Given the description of an element on the screen output the (x, y) to click on. 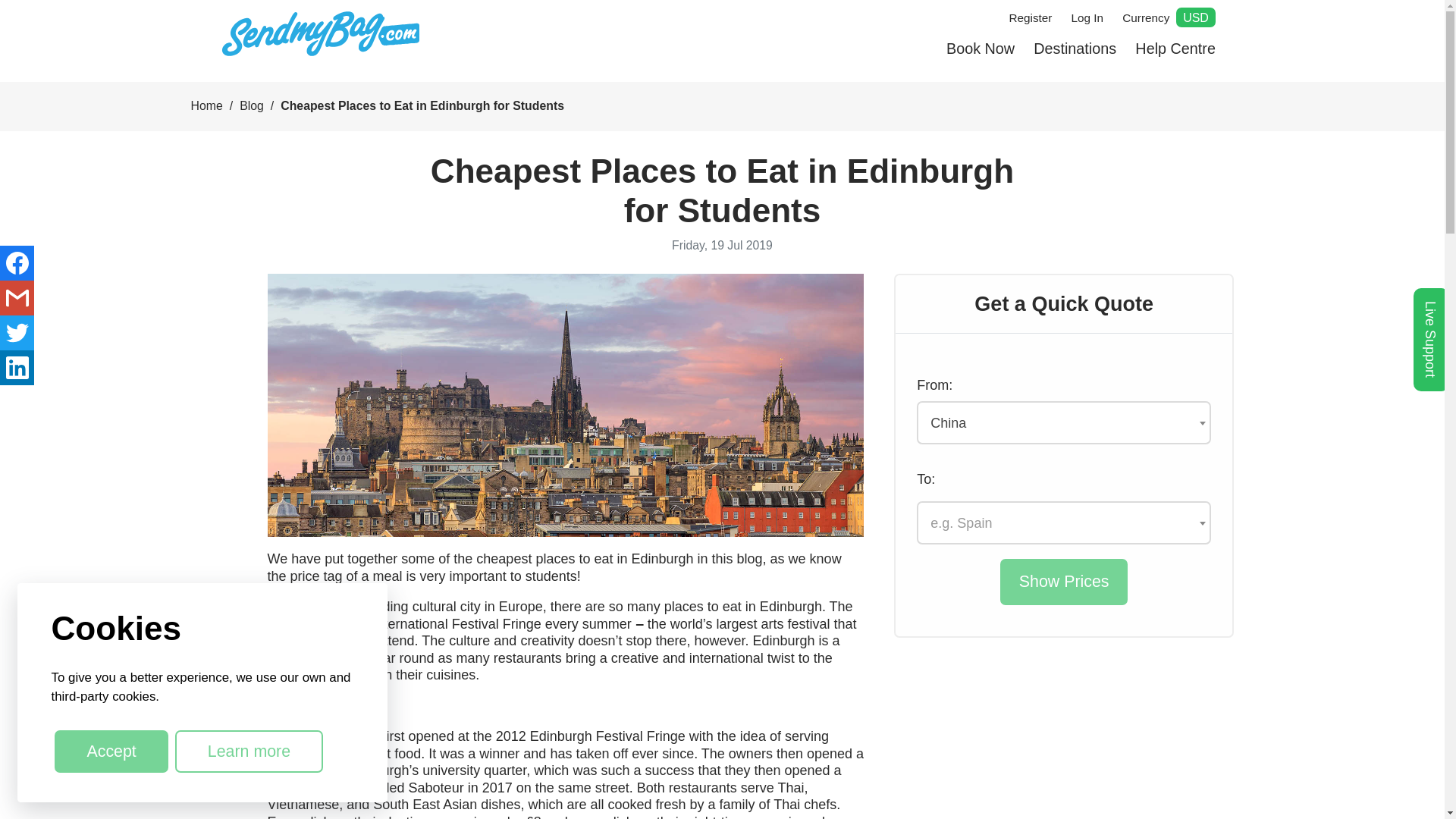
Log In (1087, 16)
Share Blog With Linkedin (16, 367)
China (1063, 422)
Register (1029, 16)
Book Now (980, 48)
Destinations (1074, 48)
Share Blog With Twitter (16, 332)
Share Blog With Facebook (16, 262)
Show Prices (1063, 581)
UK (1063, 522)
Home (206, 105)
Currency USD (1169, 17)
Help Centre (1175, 48)
Share Blog With Mail (16, 297)
Blog (251, 105)
